Given the description of an element on the screen output the (x, y) to click on. 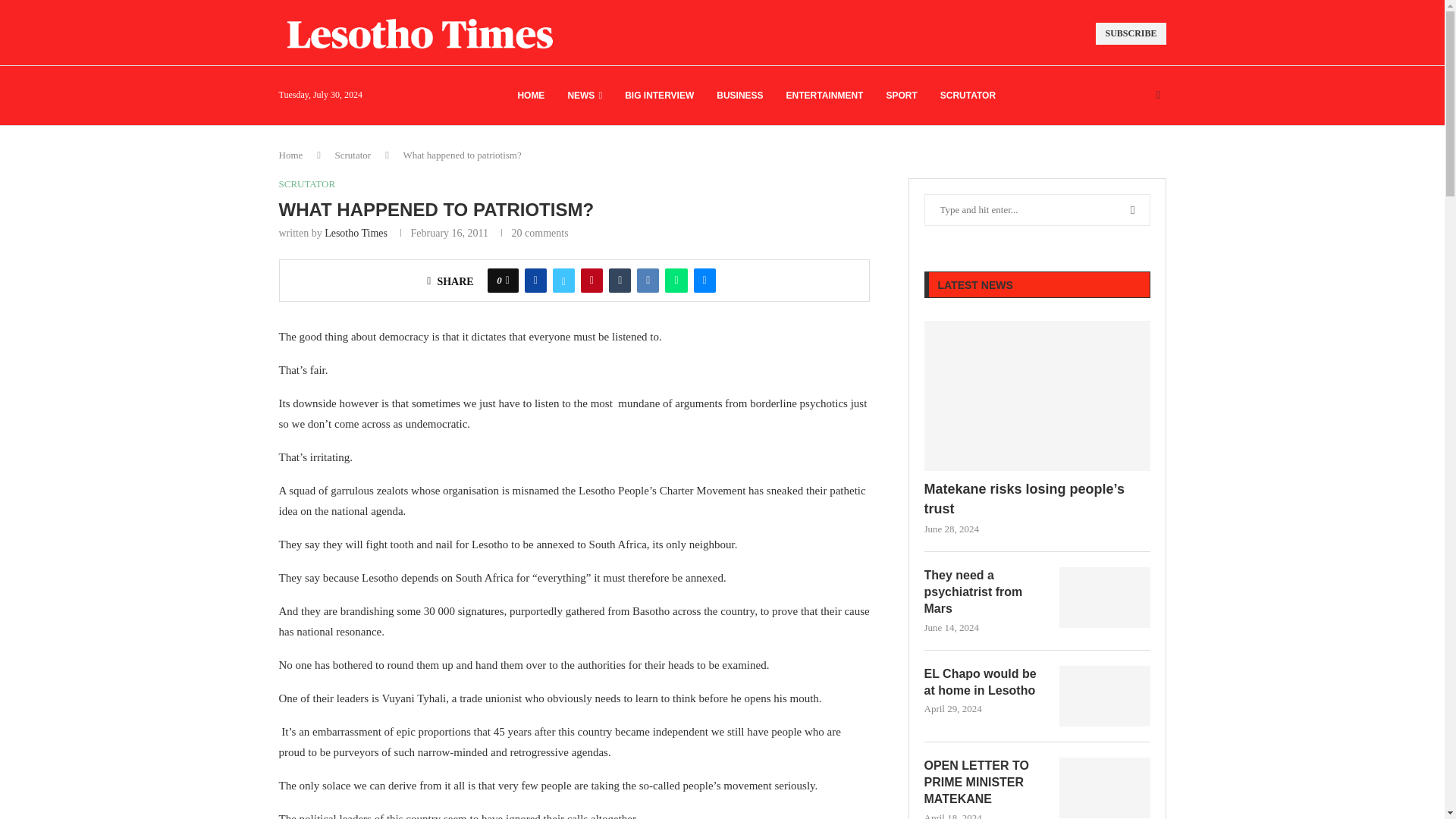
BUSINESS (739, 95)
BIG INTERVIEW (659, 95)
SCRUTATOR (967, 95)
SUBSCRIBE (1131, 33)
ENTERTAINMENT (824, 95)
